Given the description of an element on the screen output the (x, y) to click on. 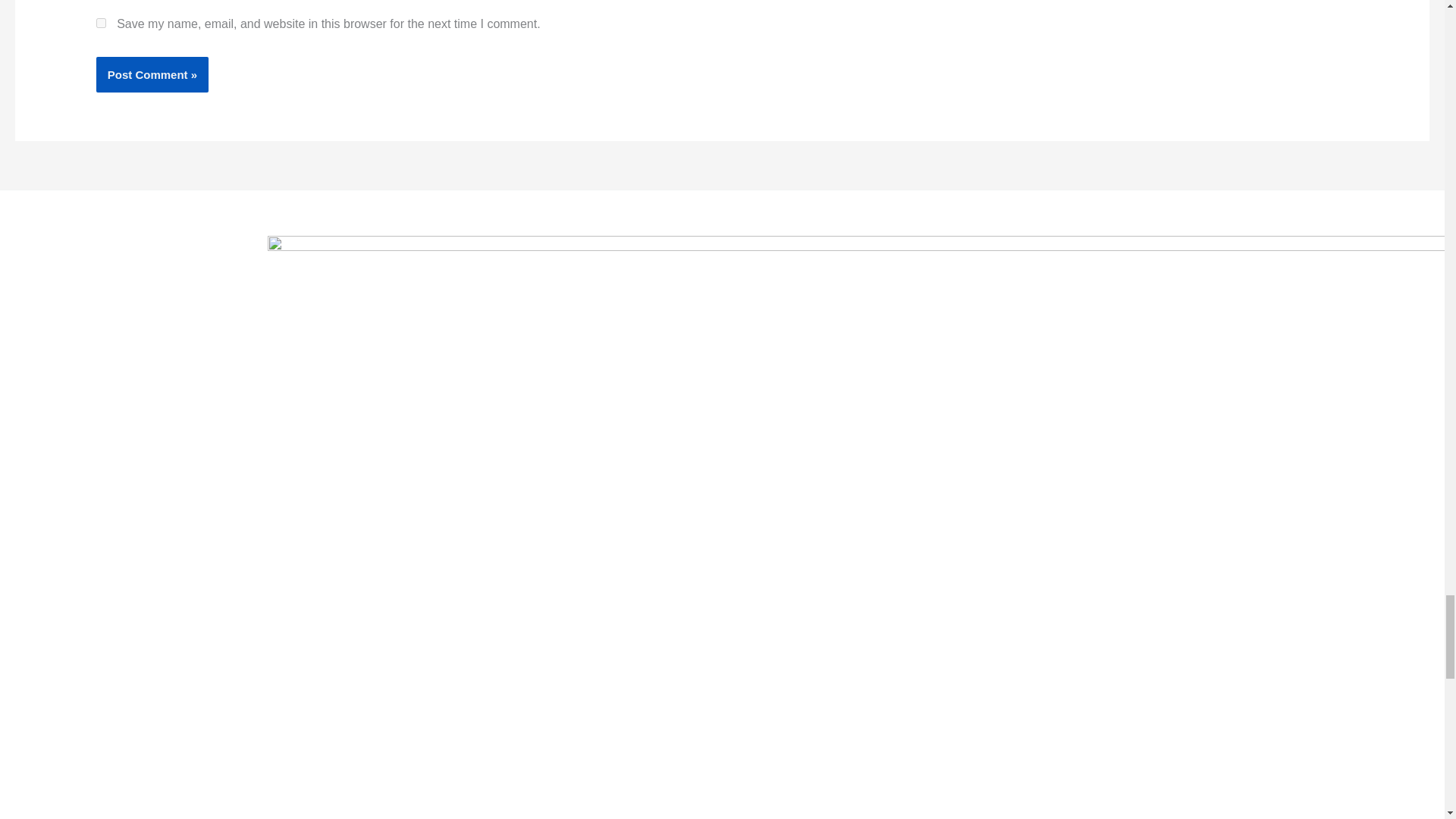
yes (101, 22)
